Given the description of an element on the screen output the (x, y) to click on. 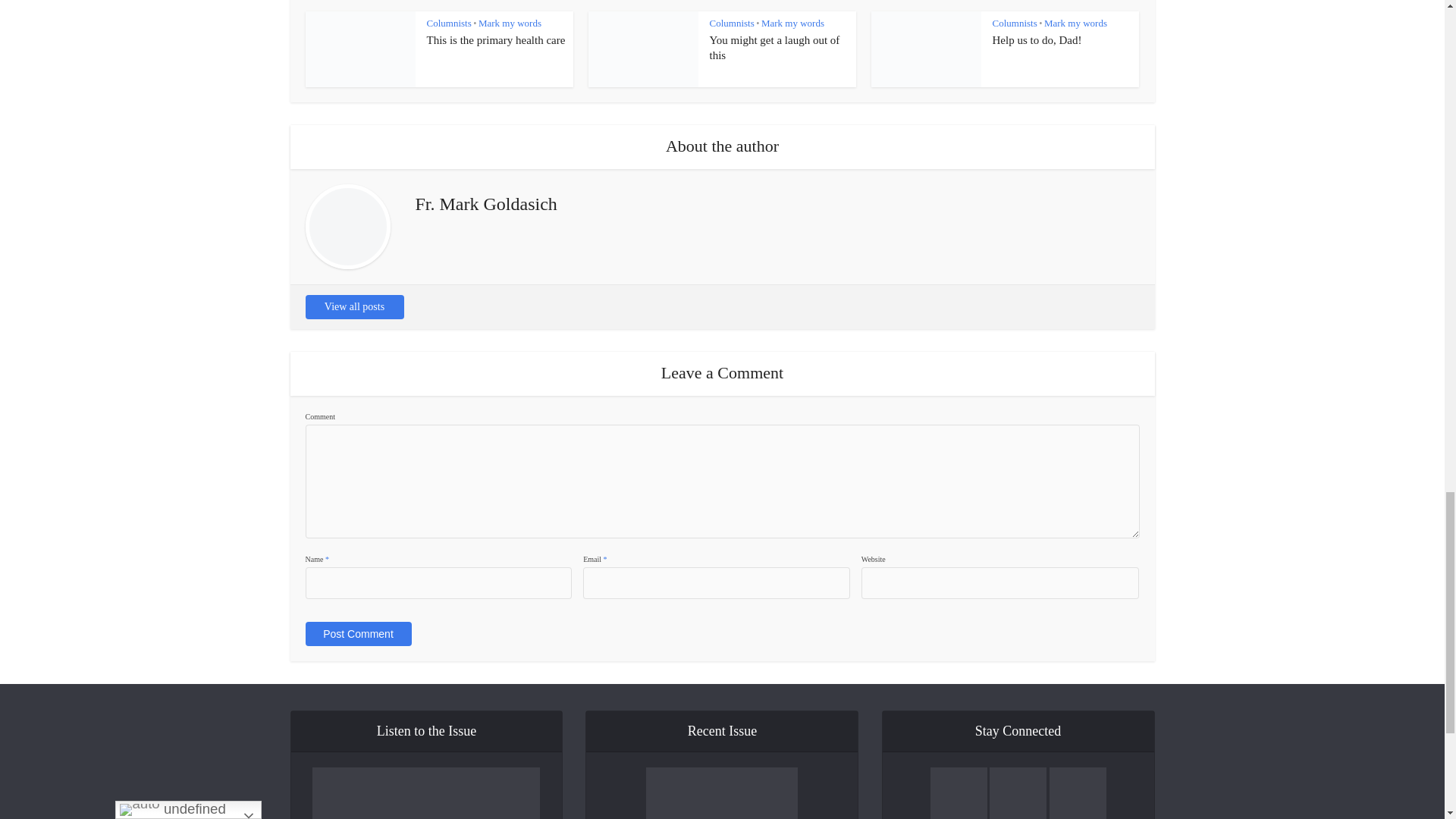
Help us to do, Dad! (1036, 39)
You might get a laugh out of this (775, 47)
Post Comment (357, 633)
This is the primary health care (495, 39)
